Given the description of an element on the screen output the (x, y) to click on. 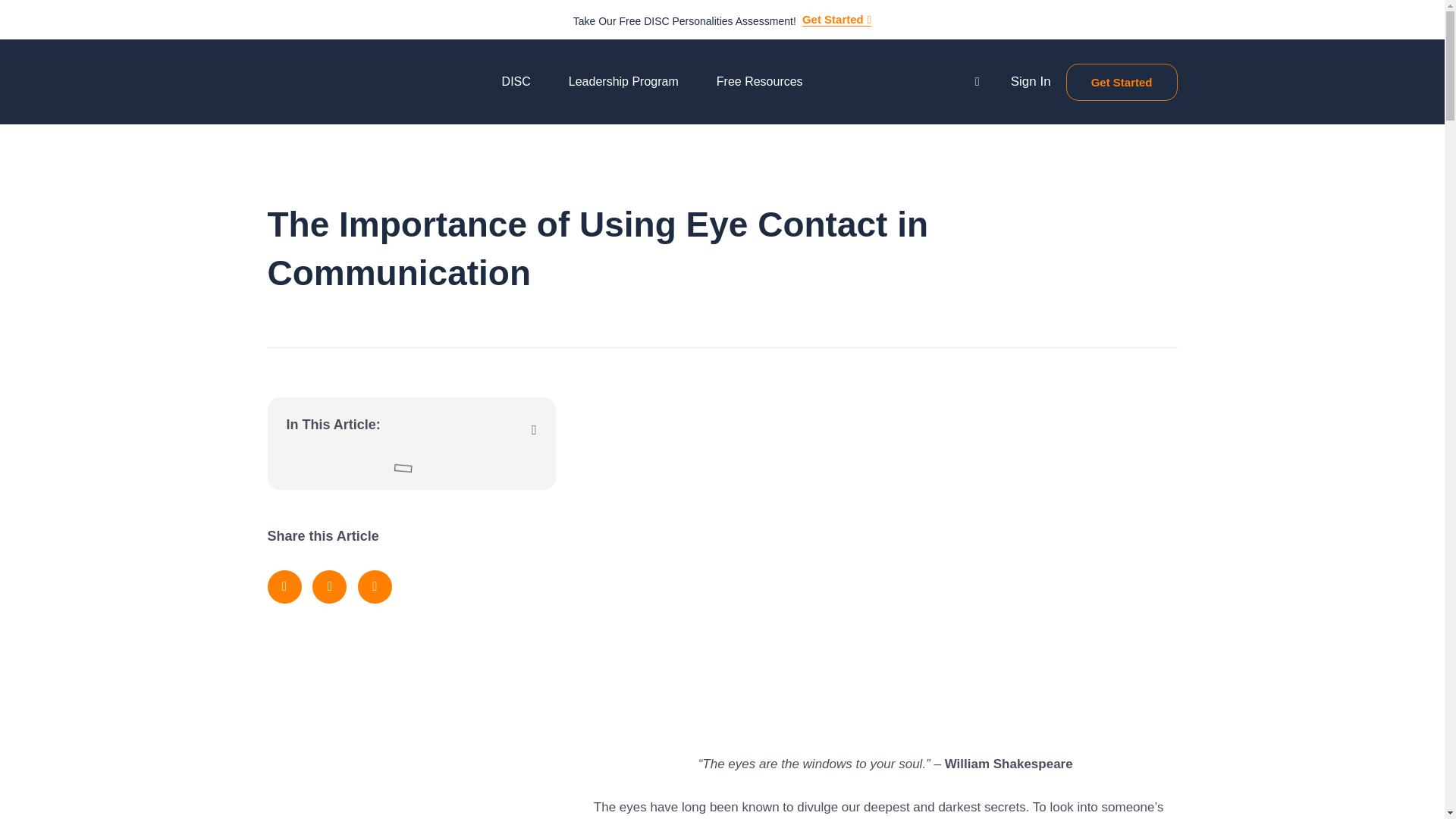
Take Our Free DISC Personalities Assessment! (684, 21)
Leadership Program (627, 81)
Get Started (1121, 81)
Free Resources (763, 81)
Sign In (1030, 81)
DISC (519, 81)
Get Started (836, 19)
